Given the description of an element on the screen output the (x, y) to click on. 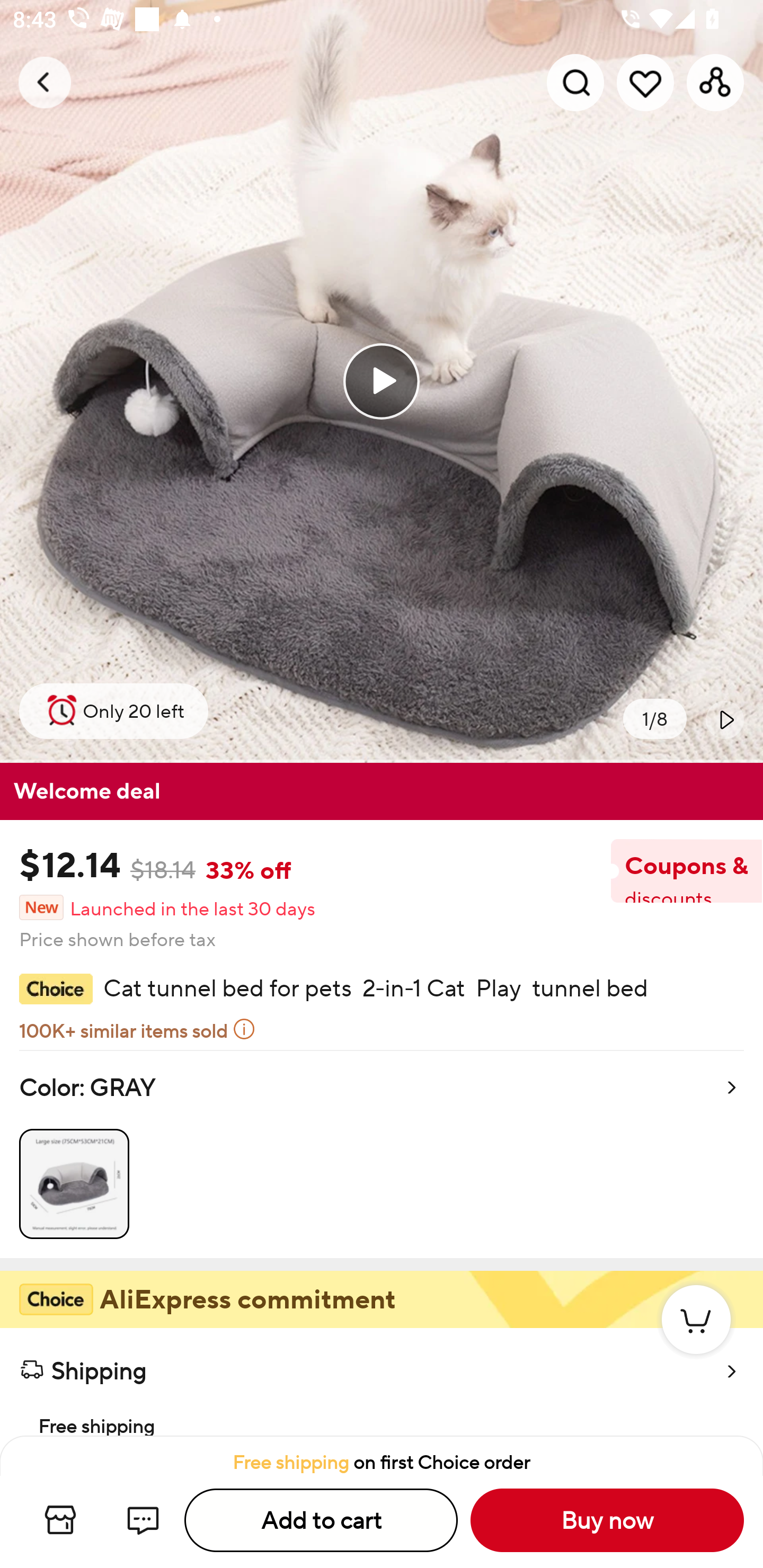
0.0 (381, 381)
Navigate up (44, 82)
 (724, 719)
Color: GRAY  (381, 1153)
Shipping  Free shipping  (381, 1382)
Free shipping  (381, 1414)
Add to cart (320, 1520)
Buy now (606, 1520)
